Given the description of an element on the screen output the (x, y) to click on. 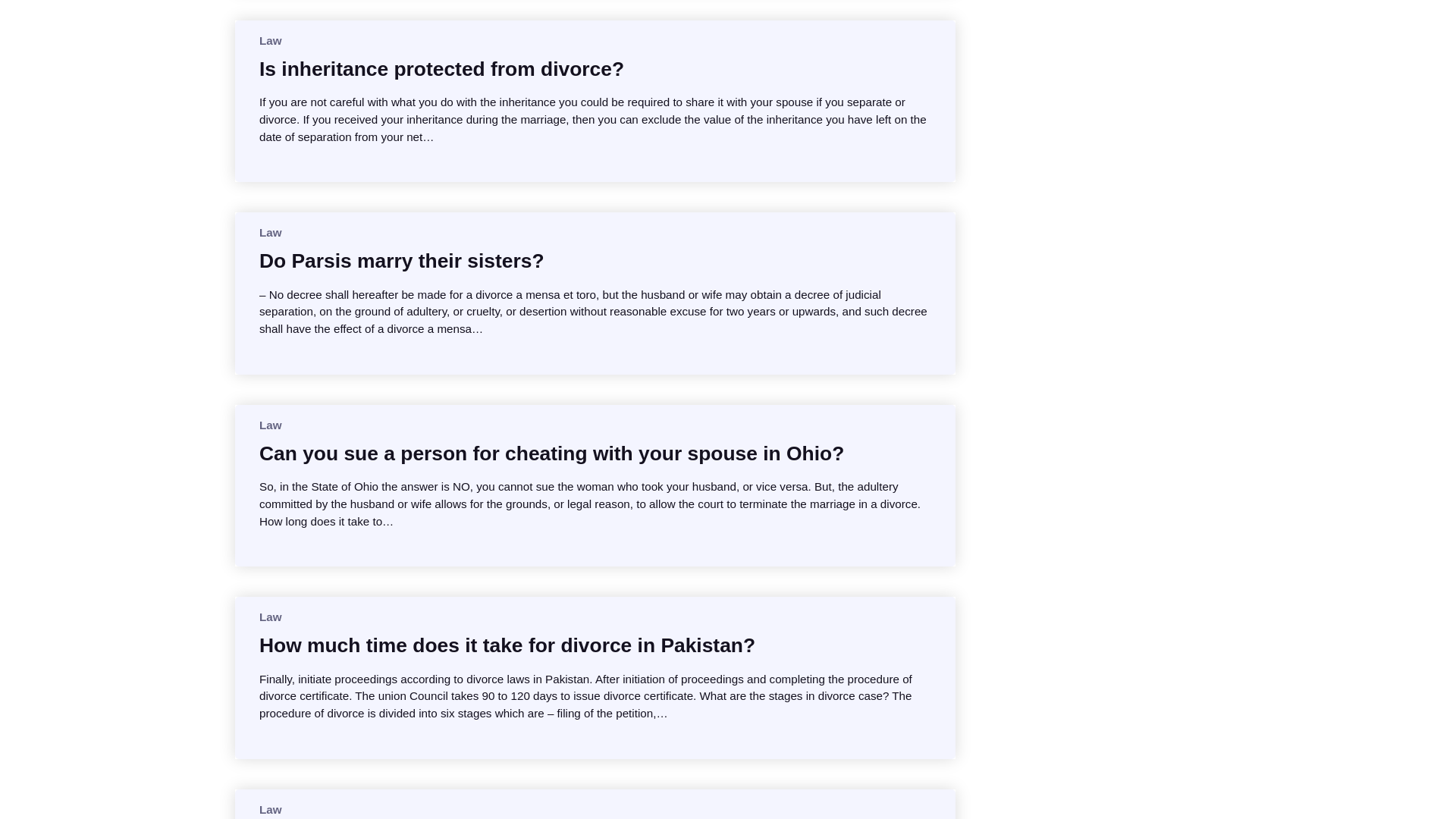
Law (270, 424)
Law (270, 616)
Law (270, 40)
Can you sue a person for cheating with your spouse in Ohio? (551, 453)
Do Parsis marry their sisters? (401, 260)
Law (270, 232)
Law (270, 809)
Is inheritance protected from divorce? (441, 68)
How much time does it take for divorce in Pakistan? (507, 645)
